Given the description of an element on the screen output the (x, y) to click on. 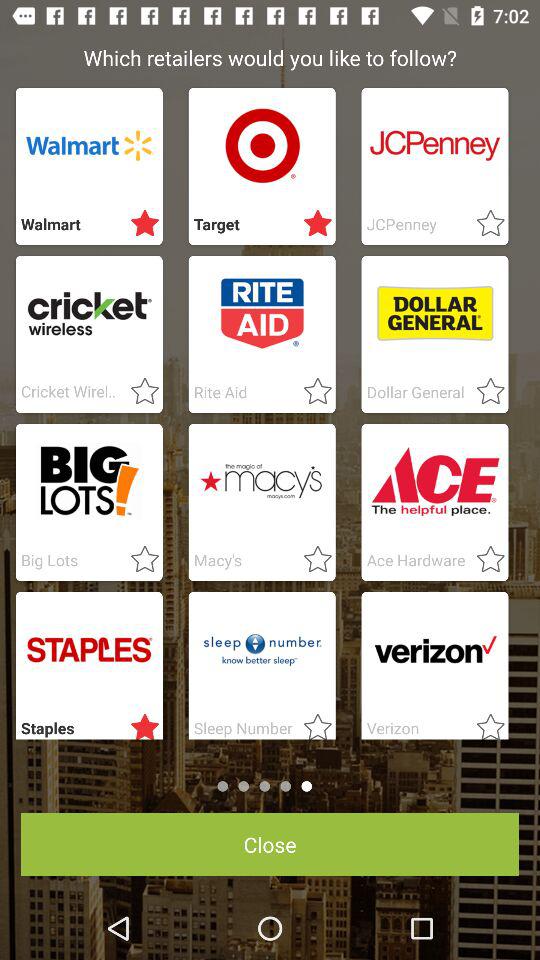
add to favorites (484, 723)
